Given the description of an element on the screen output the (x, y) to click on. 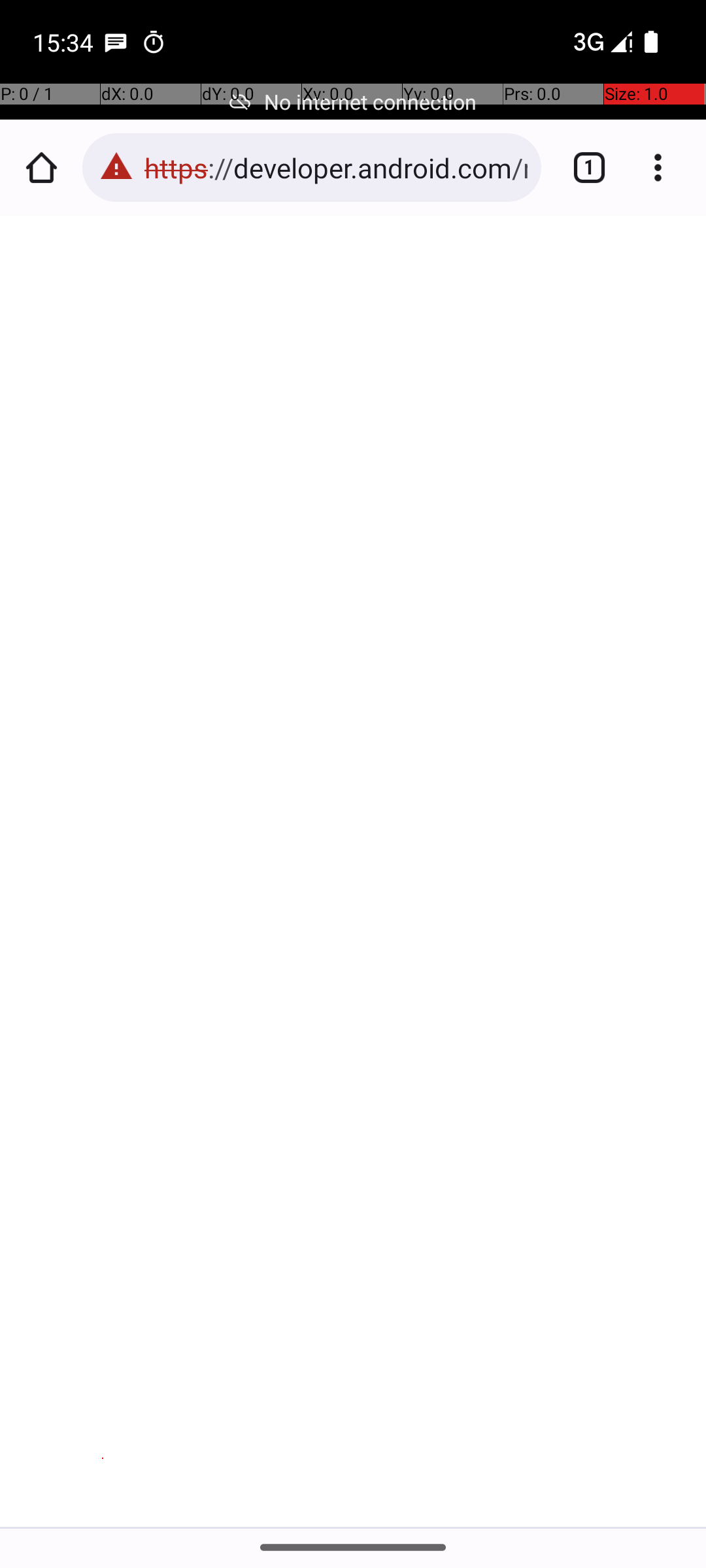
https://developer.android.com/reference/java/text/SimpleDateFormat#date-and-time-patterns Element type: android.widget.EditText (335, 167)
developer.android.com Element type: android.widget.TextView (166, 684)
